Given the description of an element on the screen output the (x, y) to click on. 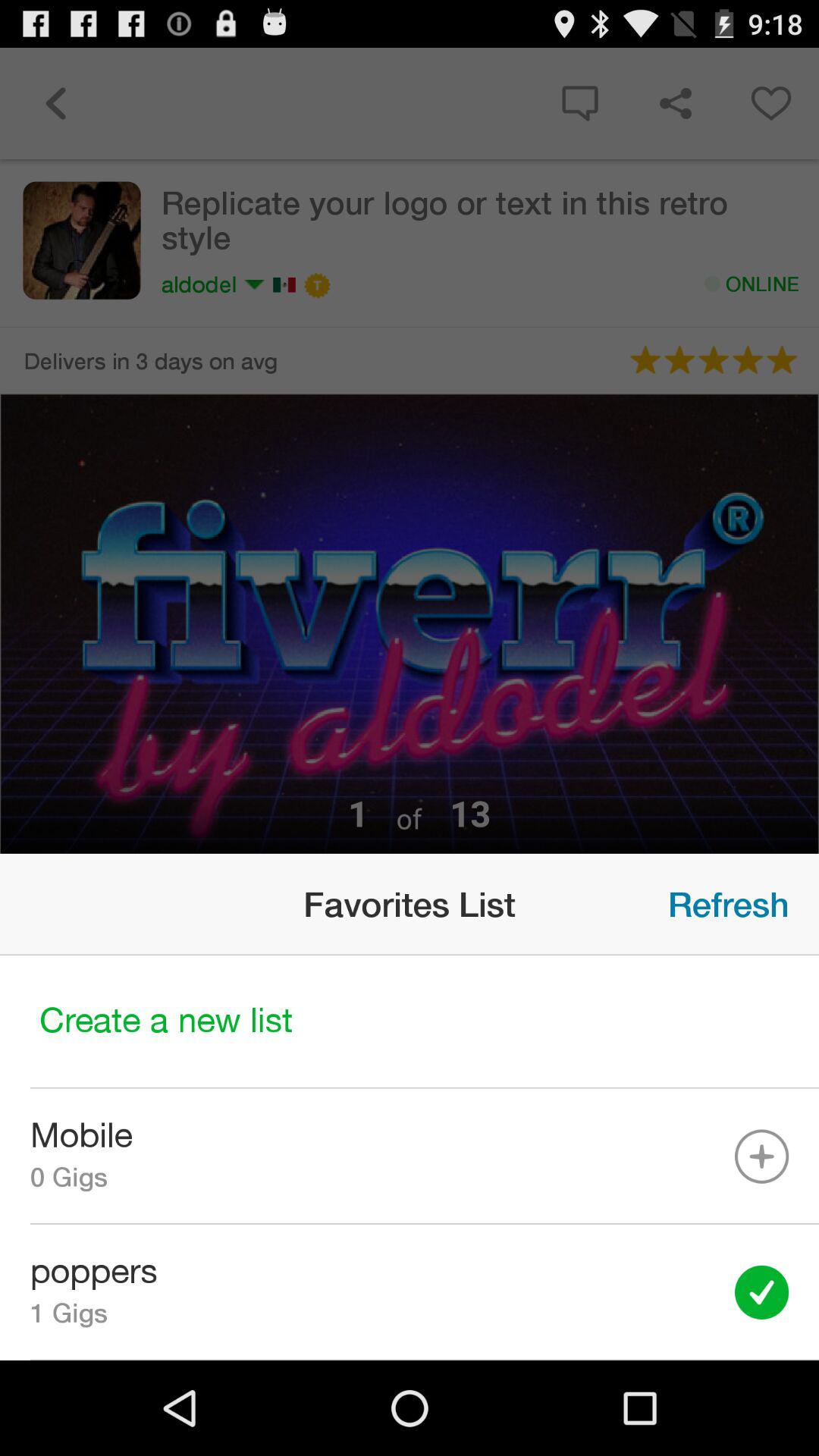
scroll to refresh item (728, 903)
